Given the description of an element on the screen output the (x, y) to click on. 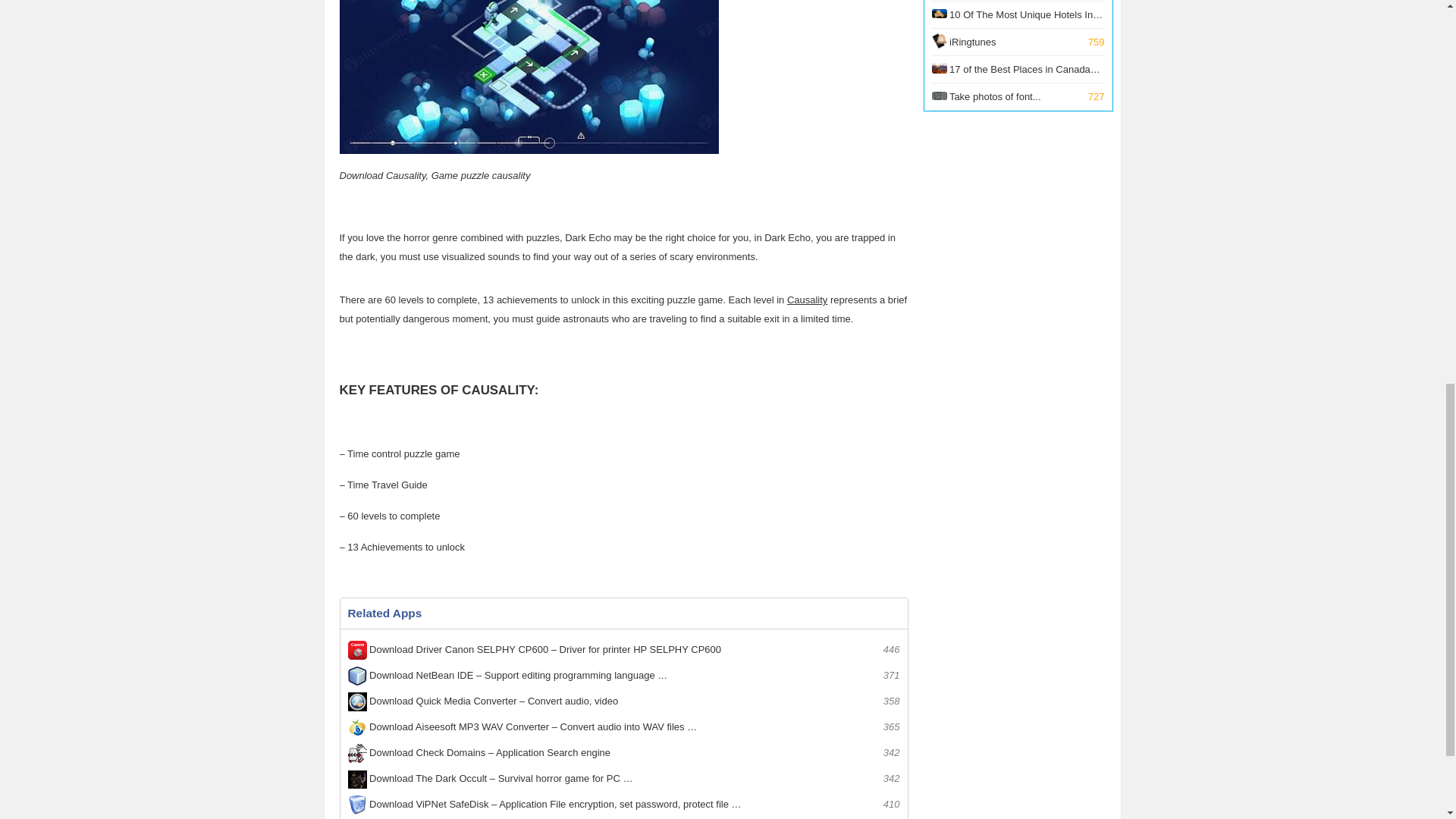
10 Of The Most Unique Hotels In The World (1017, 14)
17 of the Best Places in Canada for Solo Travelers (1017, 41)
